Given the description of an element on the screen output the (x, y) to click on. 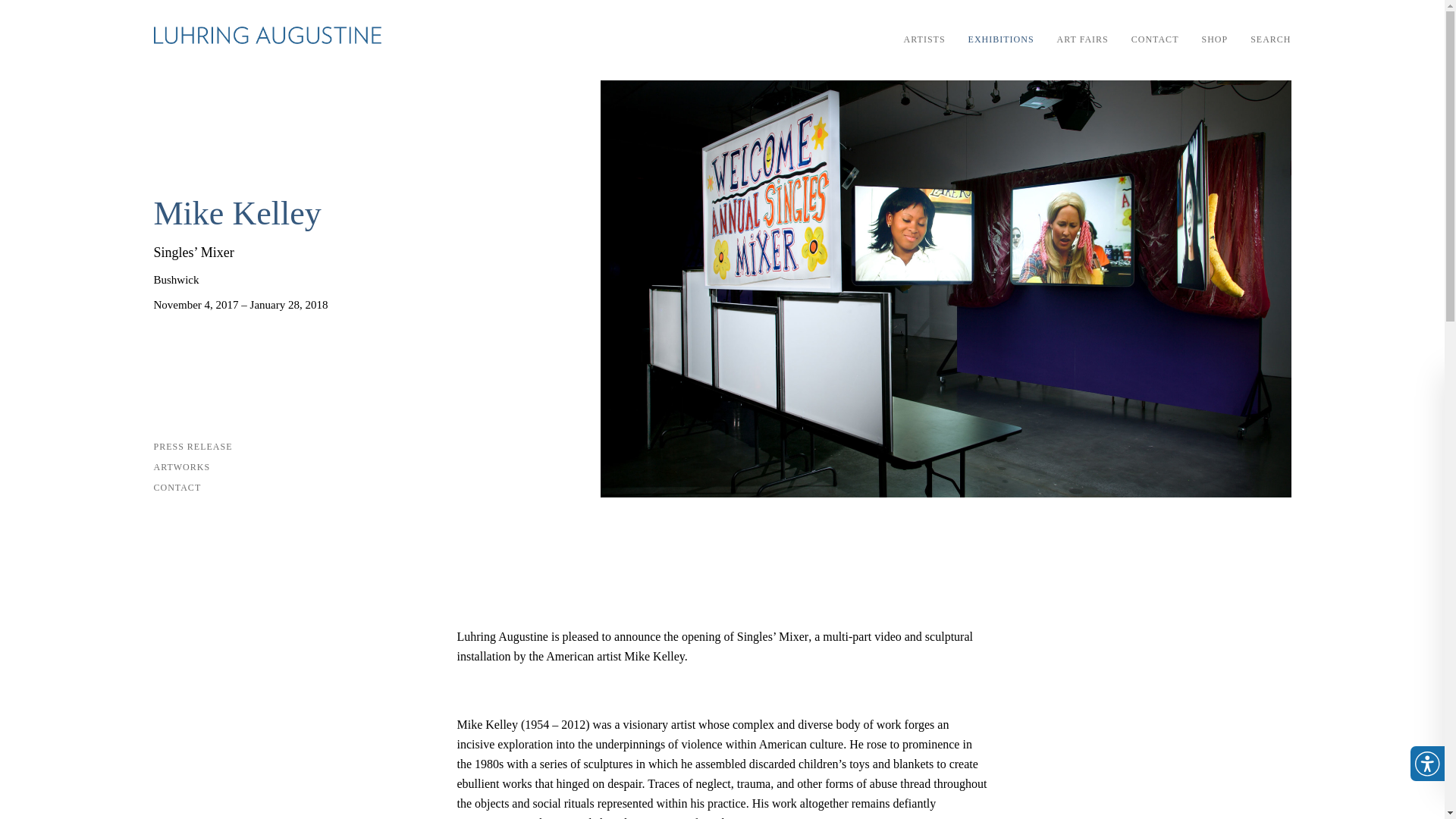
CONTACT (375, 486)
ART FAIRS (1082, 39)
SHOP (1214, 39)
EXHIBITIONS (1000, 39)
CONTACT (1155, 39)
ARTWORKS (368, 466)
ARTISTS (924, 39)
PRESS RELEASE (368, 445)
SEARCH (1270, 39)
